Given the description of an element on the screen output the (x, y) to click on. 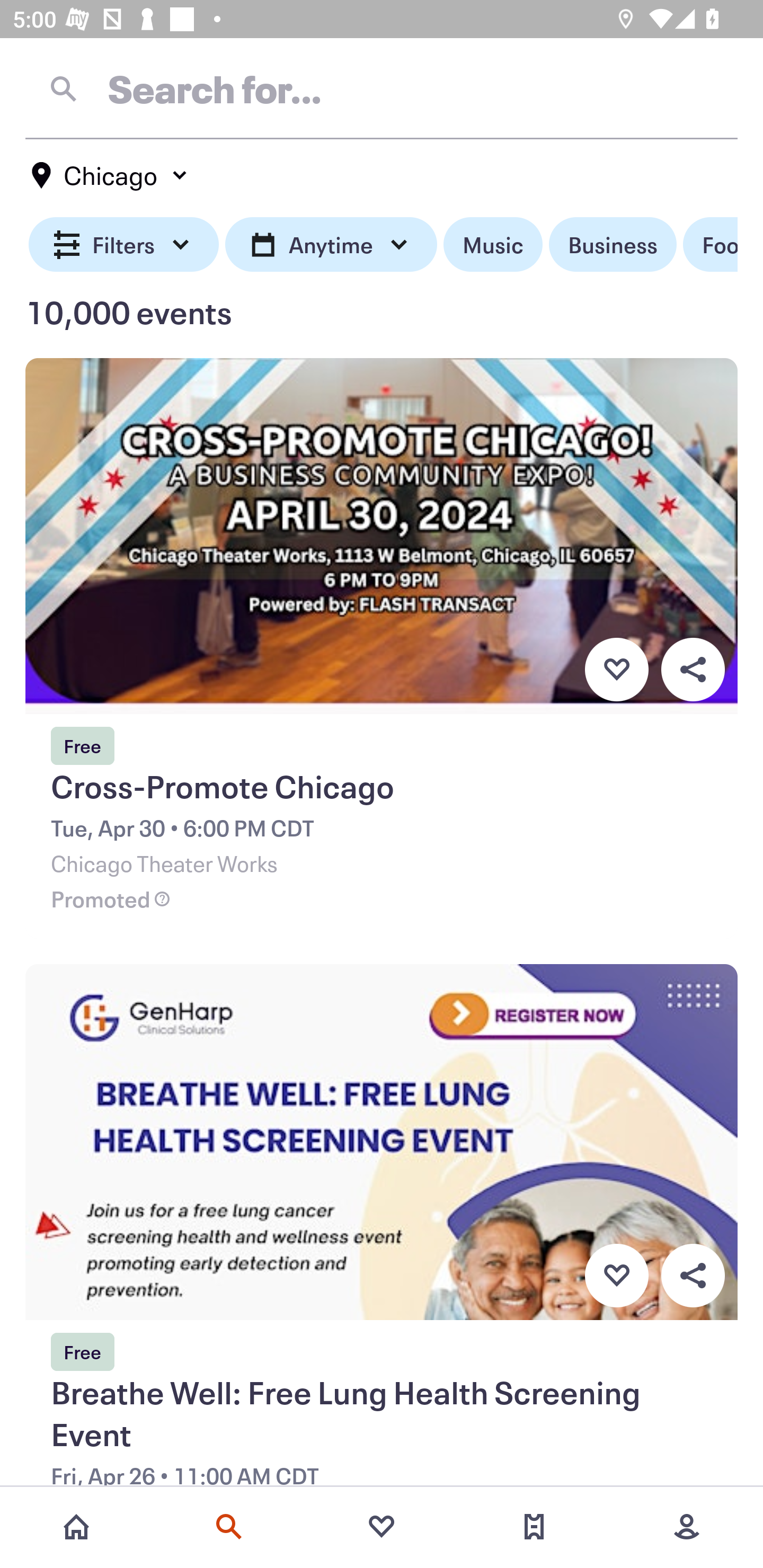
Search for… (381, 88)
Chicago (110, 175)
Filters (123, 244)
Anytime (331, 244)
Music (492, 244)
Business (612, 244)
Favorite button (616, 669)
Overflow menu button (692, 669)
Favorite button (616, 1275)
Overflow menu button (692, 1275)
Home (76, 1526)
Search events (228, 1526)
Favorites (381, 1526)
Tickets (533, 1526)
More (686, 1526)
